Given the description of an element on the screen output the (x, y) to click on. 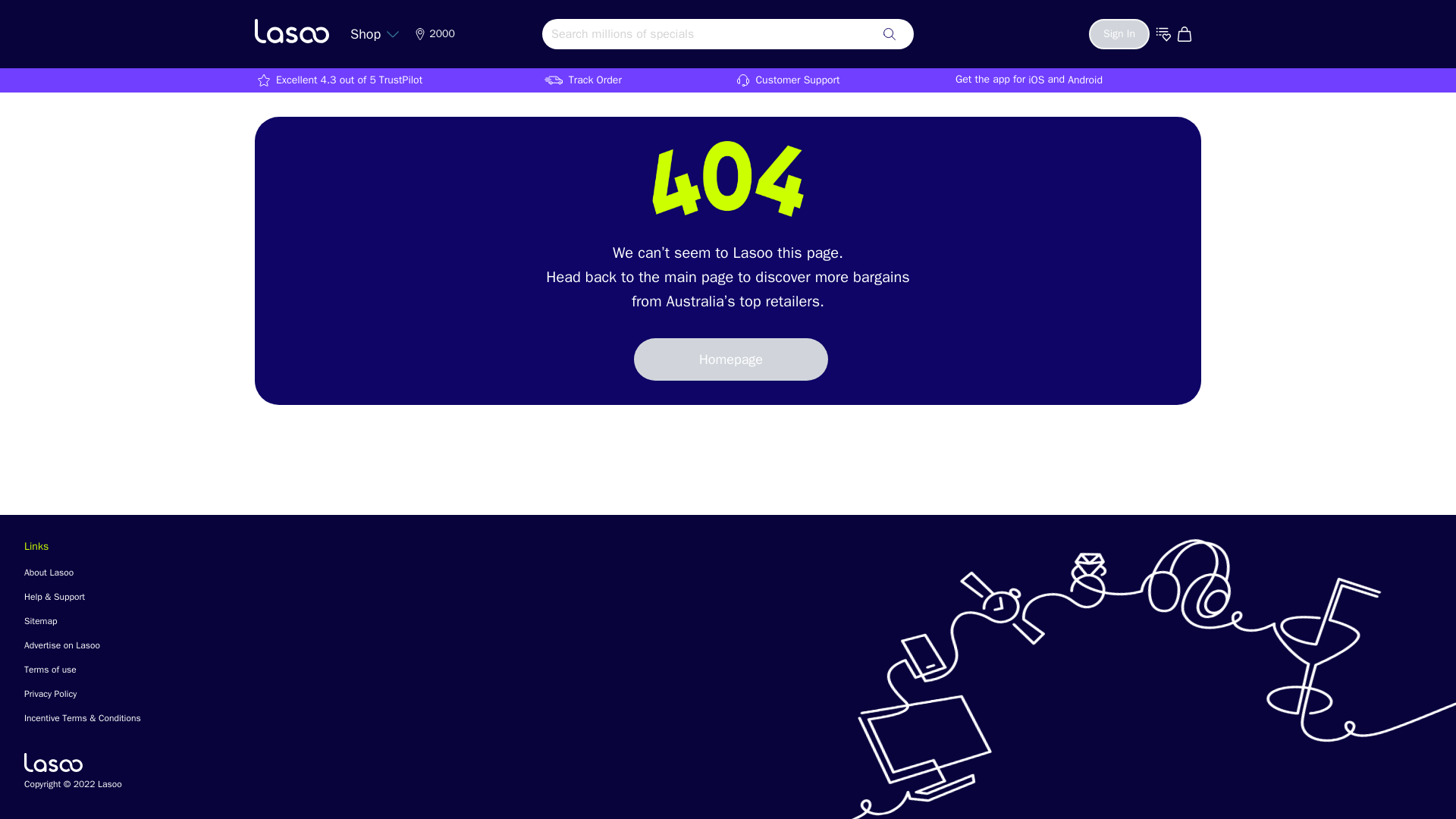
Lasoo (53, 762)
lasoo (291, 30)
Not found (727, 178)
Go to wishlist (1163, 33)
Shop (374, 33)
Go to cart (1185, 33)
